Given the description of an element on the screen output the (x, y) to click on. 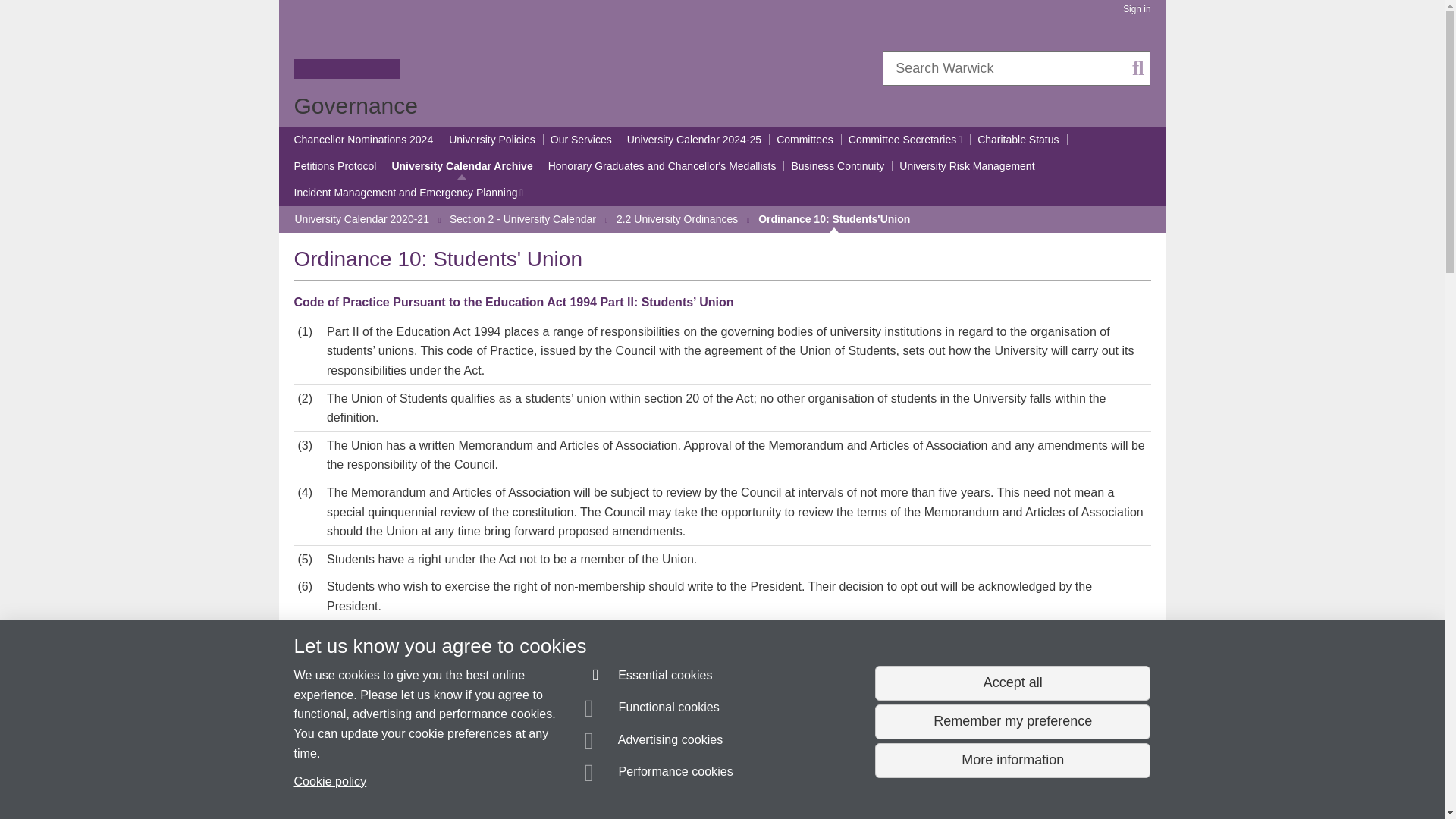
University Policies (491, 139)
Committees (804, 139)
University of Warwick homepage (346, 48)
Charitable Status (1017, 139)
University Calendar Archive (461, 166)
Sign in (1136, 9)
Chancellor Nominations 2024 (363, 139)
